Given the description of an element on the screen output the (x, y) to click on. 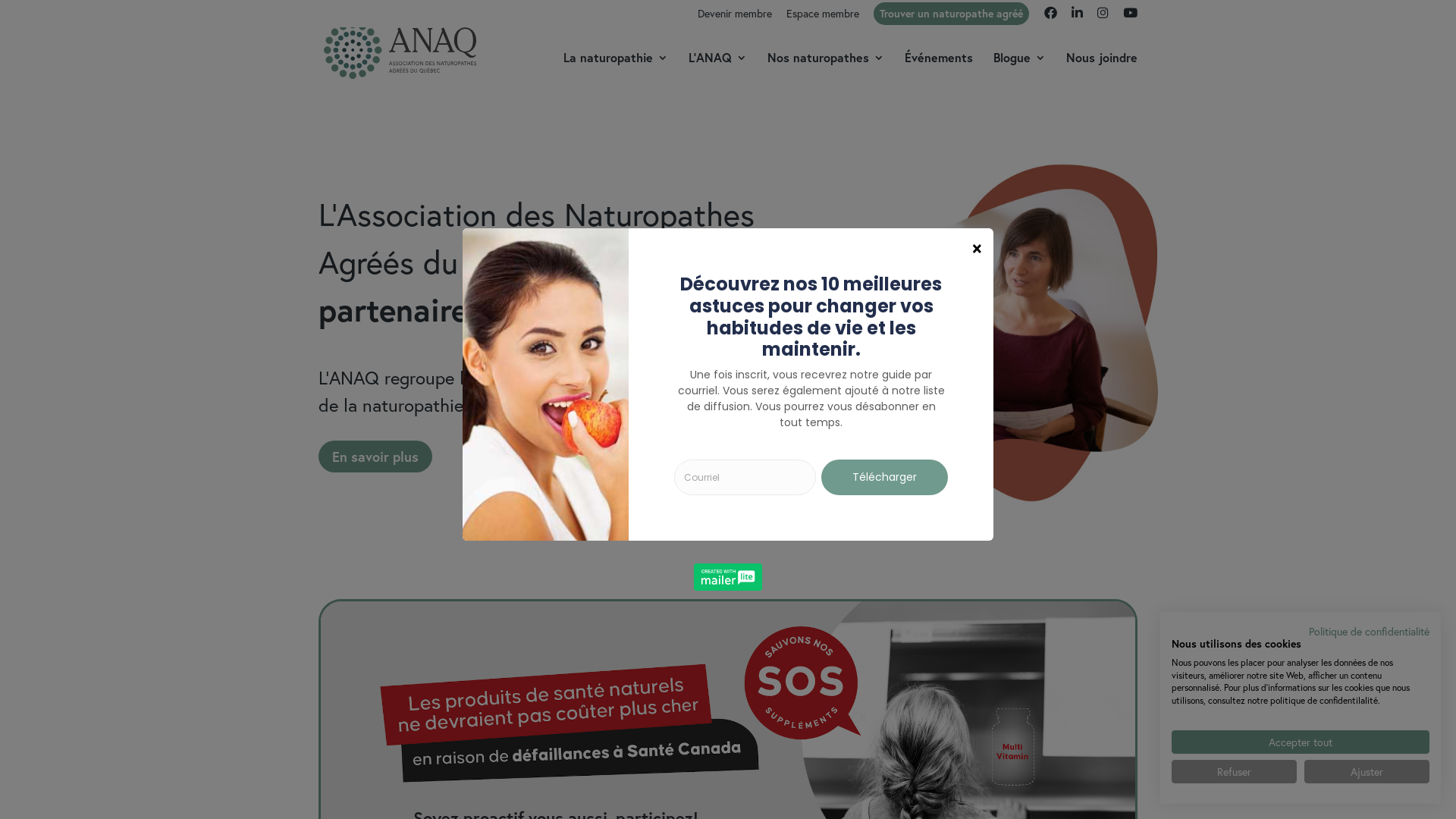
Nous joindre Element type: text (1101, 69)
Devenir membre Element type: text (734, 16)
Nos naturopathes Element type: text (825, 69)
Facebook Element type: text (1050, 16)
Instagram Element type: text (1102, 16)
Espace membre Element type: text (822, 16)
La naturopathie Element type: text (615, 69)
Blogue Element type: text (1019, 69)
En savoir plus Element type: text (375, 455)
Ajuster Element type: text (1366, 771)
Refuser Element type: text (1233, 771)
YouTube Element type: text (1130, 16)
LinkedIn Element type: text (1076, 16)
Accepter tout Element type: text (1300, 741)
